Given the description of an element on the screen output the (x, y) to click on. 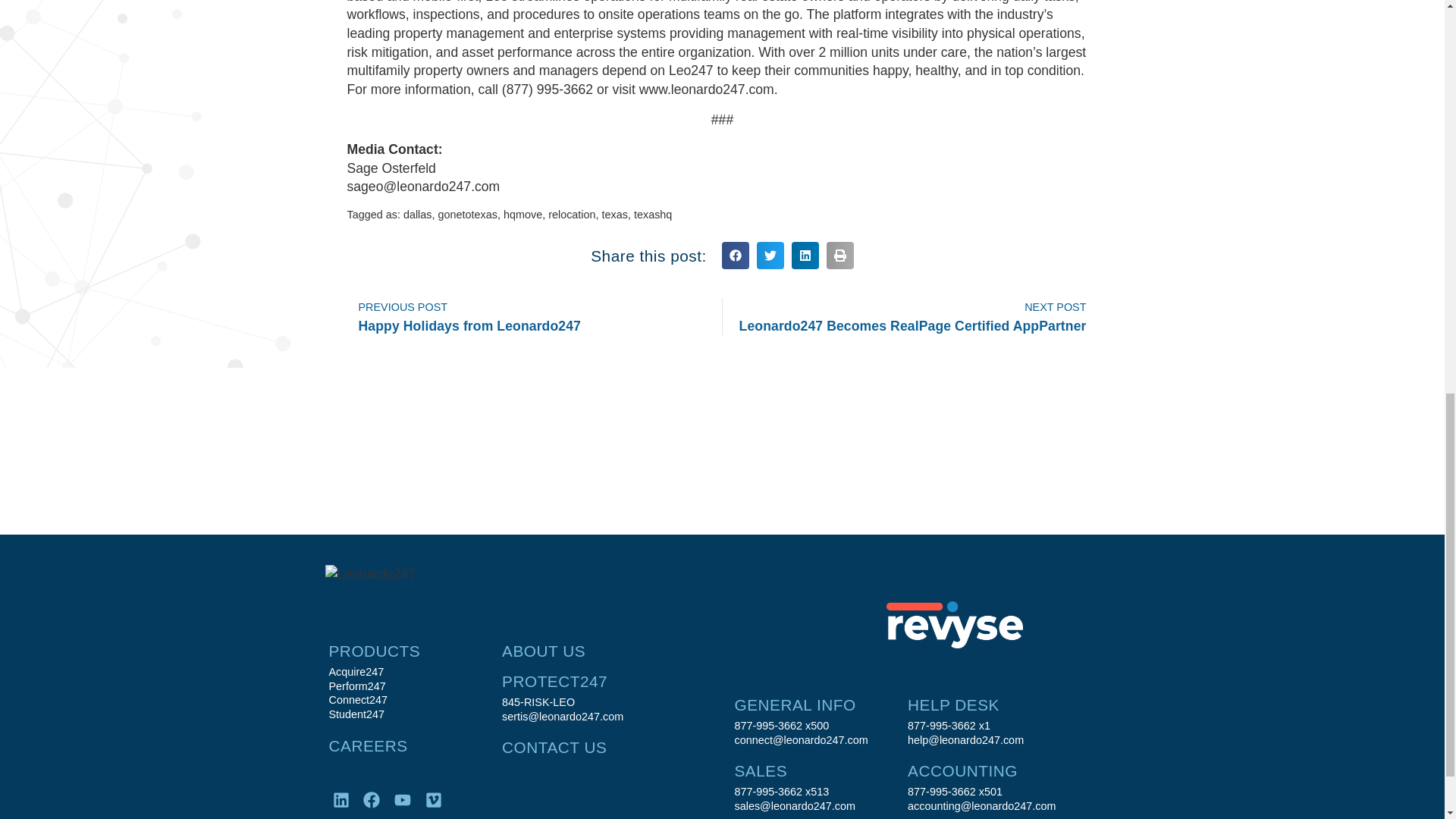
follow us on Vimeo - opens in new tab (436, 802)
follow us on Facebook - opens in new tab (374, 802)
follow us on YouTube - opens in new tab (405, 802)
follow us on LinkedIn - opens in new tab (343, 802)
